Given the description of an element on the screen output the (x, y) to click on. 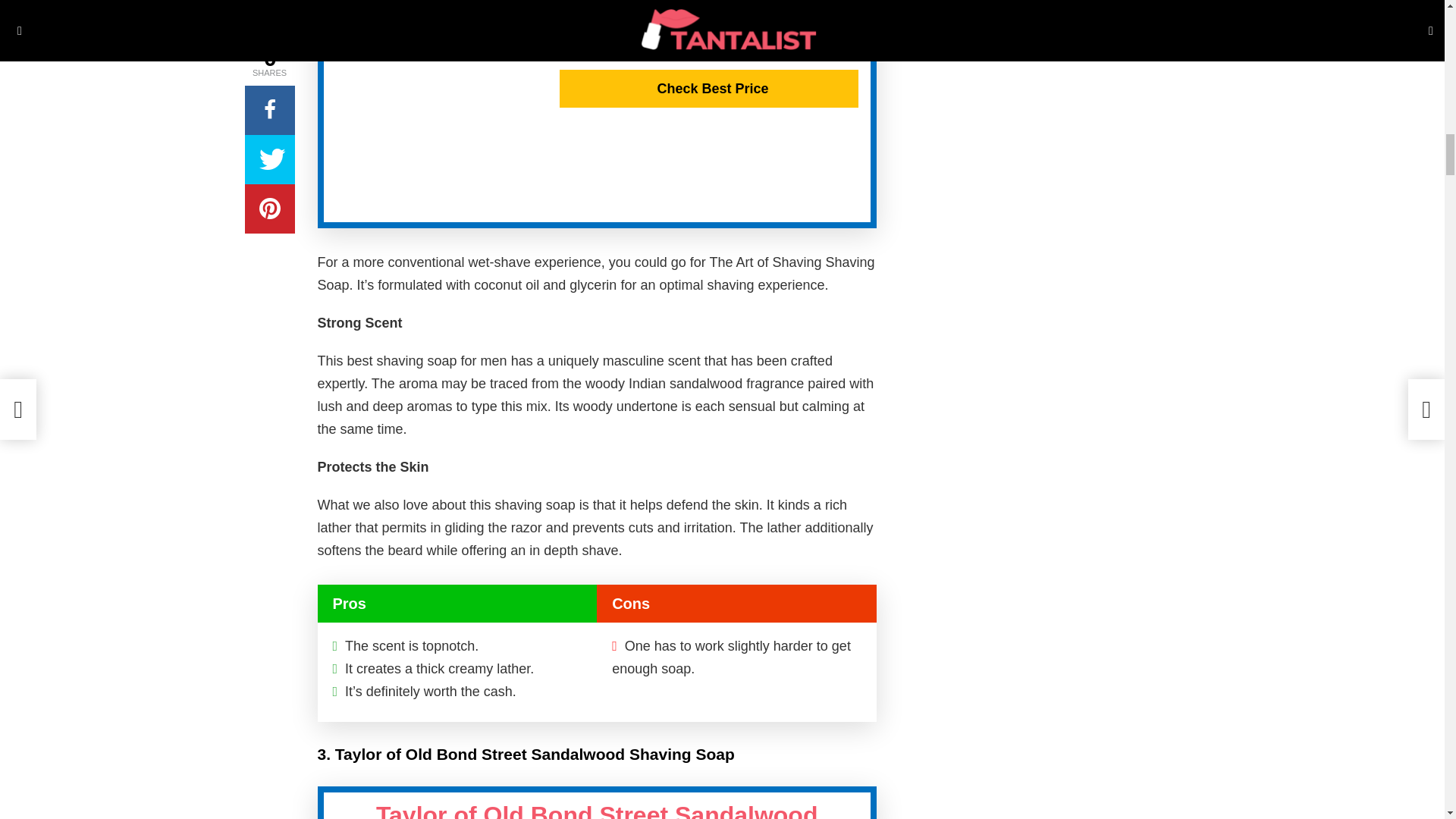
Check Best Price (709, 88)
Taylor of Old Bond Street Sandalwood Shaving Soap (596, 810)
